Given the description of an element on the screen output the (x, y) to click on. 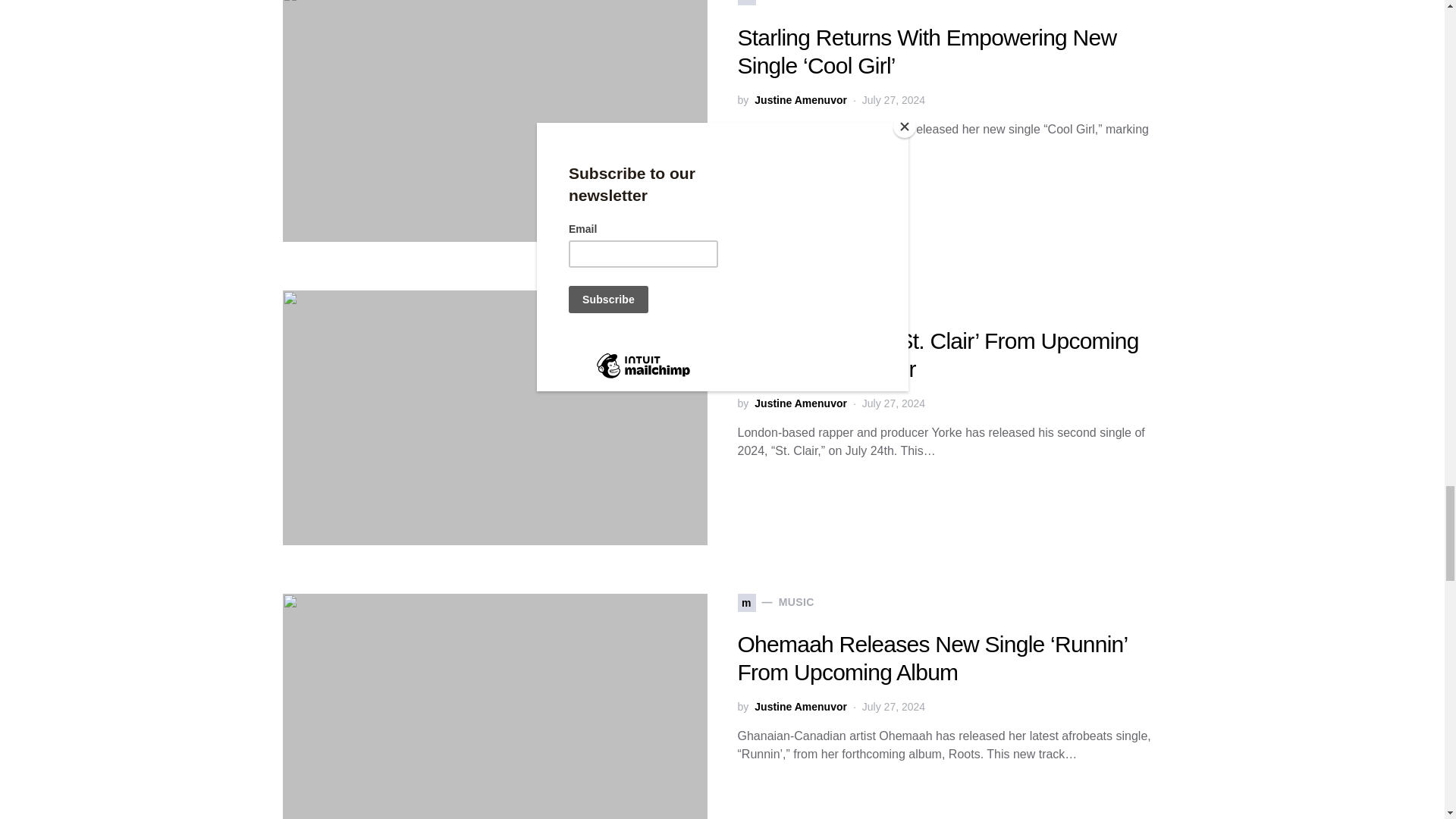
View all posts by Justine Amenuvor (800, 100)
View all posts by Justine Amenuvor (800, 403)
View all posts by Justine Amenuvor (800, 706)
